Given the description of an element on the screen output the (x, y) to click on. 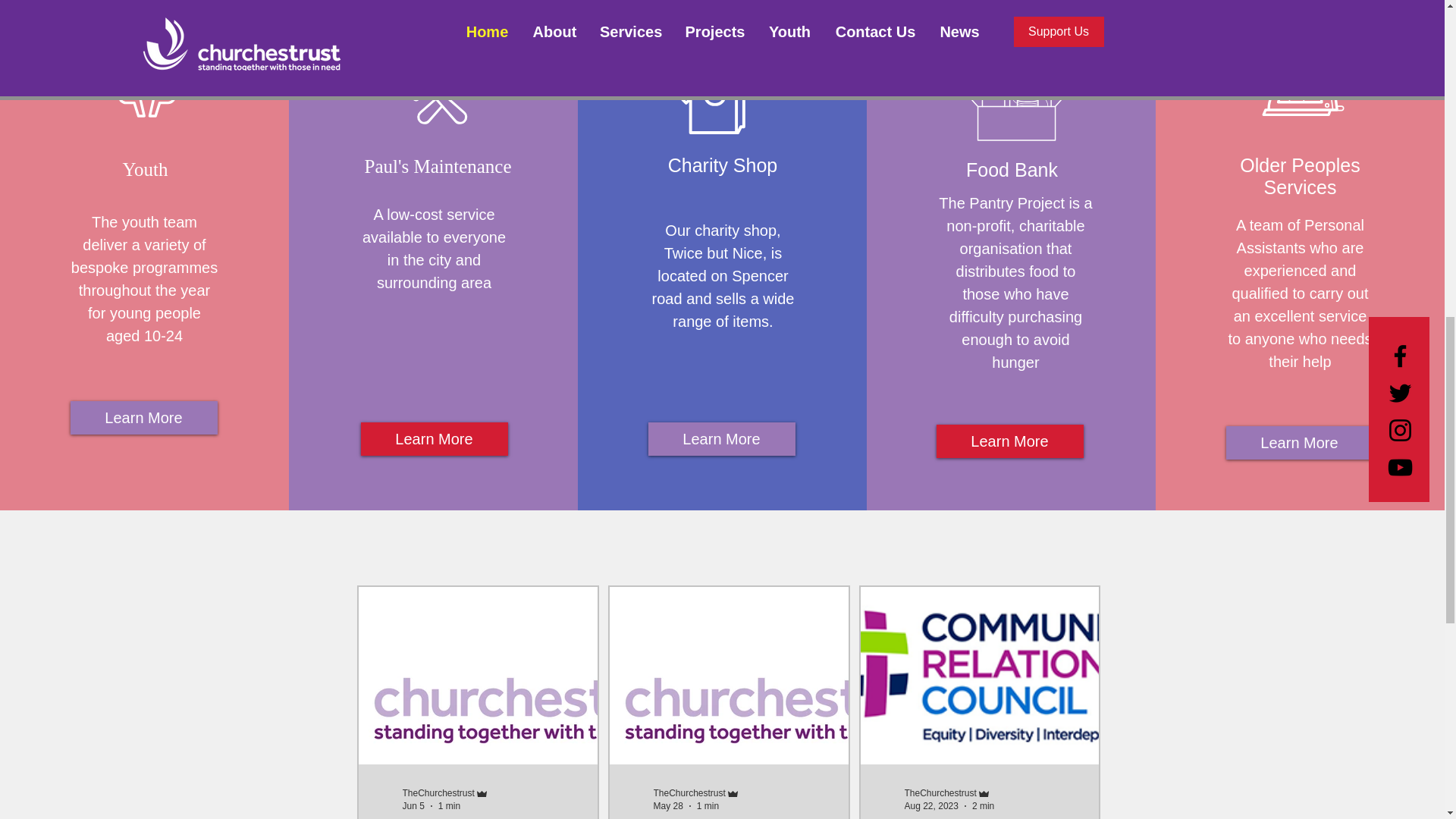
May 28 (667, 805)
TheChurchestrust (939, 792)
Learn More (720, 438)
TheChurchestrust (689, 792)
TheChurchestrust (437, 792)
Jun 5 (412, 805)
Aug 22, 2023 (931, 805)
Learn More (142, 417)
1 min (449, 805)
Learn More (434, 438)
2 min (983, 805)
1 min (708, 805)
Learn More (1009, 441)
